Given the description of an element on the screen output the (x, y) to click on. 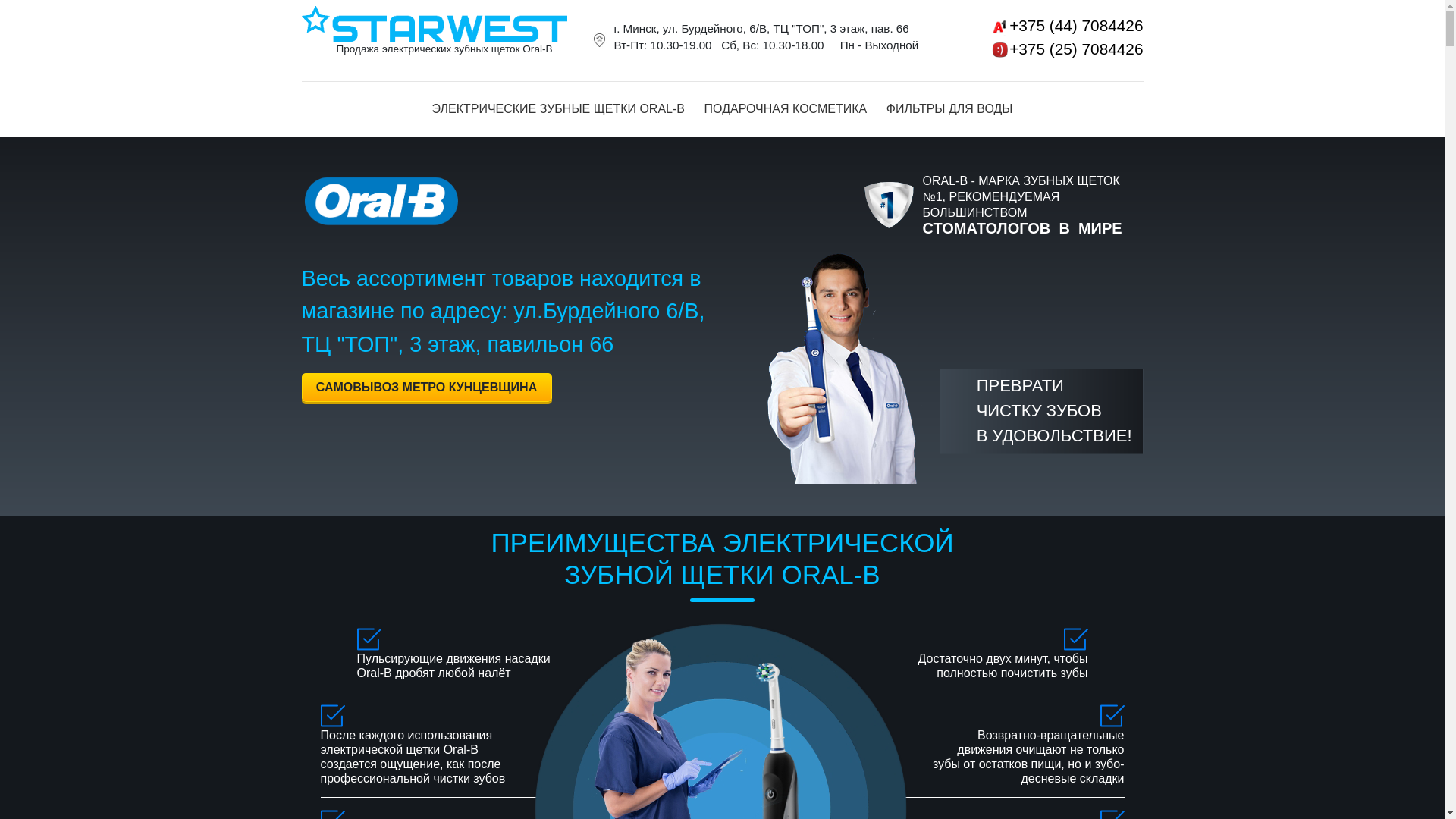
+375 (25) 7084426 Element type: text (1045, 48)
+375 (44) 7084426 Element type: text (1045, 25)
